Given the description of an element on the screen output the (x, y) to click on. 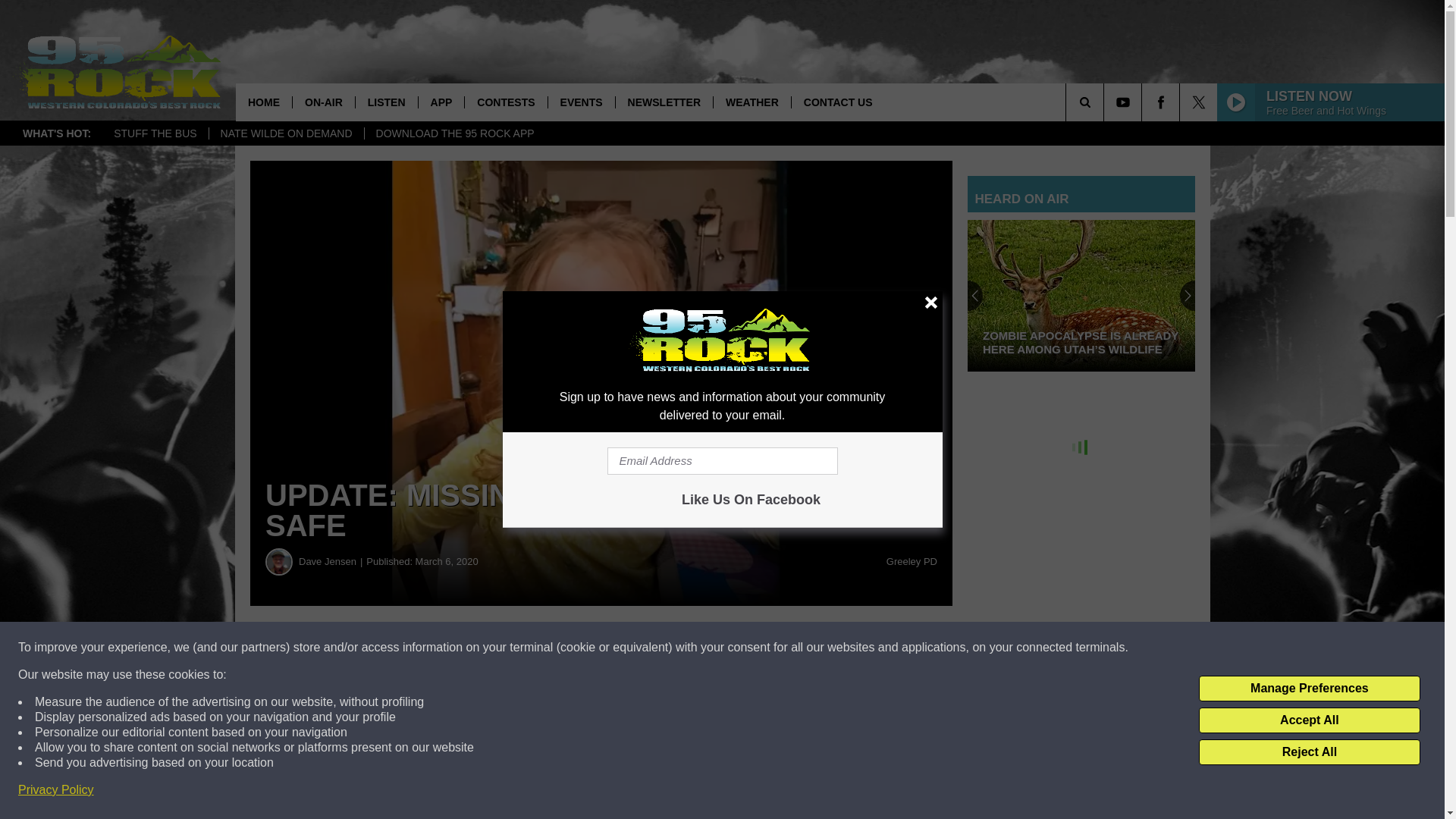
Manage Preferences (1309, 688)
Share on Twitter (741, 647)
SEARCH (1106, 102)
Accept All (1309, 720)
APP (440, 102)
Privacy Policy (55, 789)
Reject All (1309, 751)
STUFF THE BUS (154, 133)
HOME (263, 102)
NATE WILDE ON DEMAND (286, 133)
DOWNLOAD THE 95 ROCK APP (455, 133)
Email Address (722, 461)
WHAT'S HOT: (56, 133)
LISTEN (386, 102)
SEARCH (1106, 102)
